Given the description of an element on the screen output the (x, y) to click on. 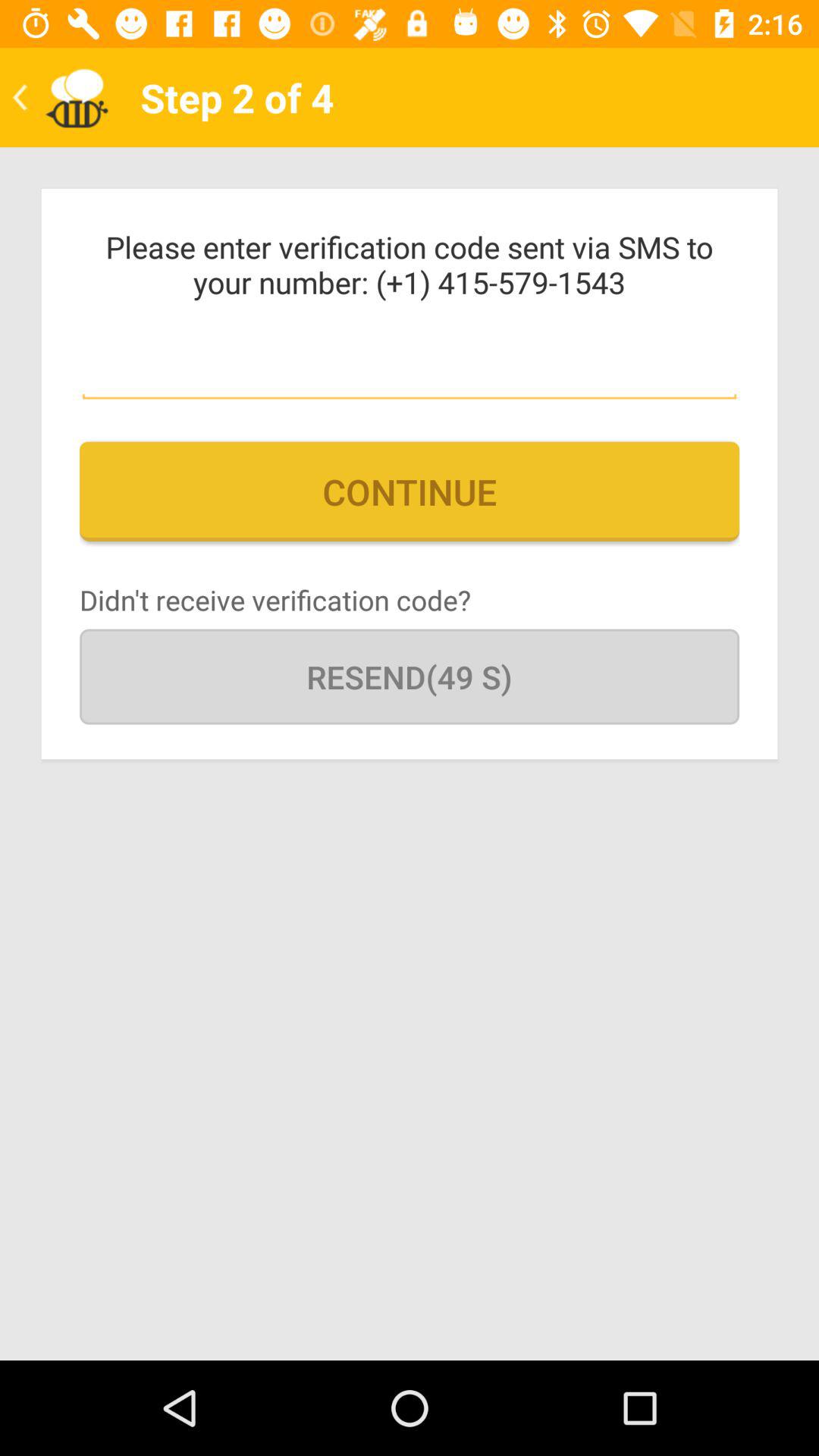
press the continue (409, 491)
